Given the description of an element on the screen output the (x, y) to click on. 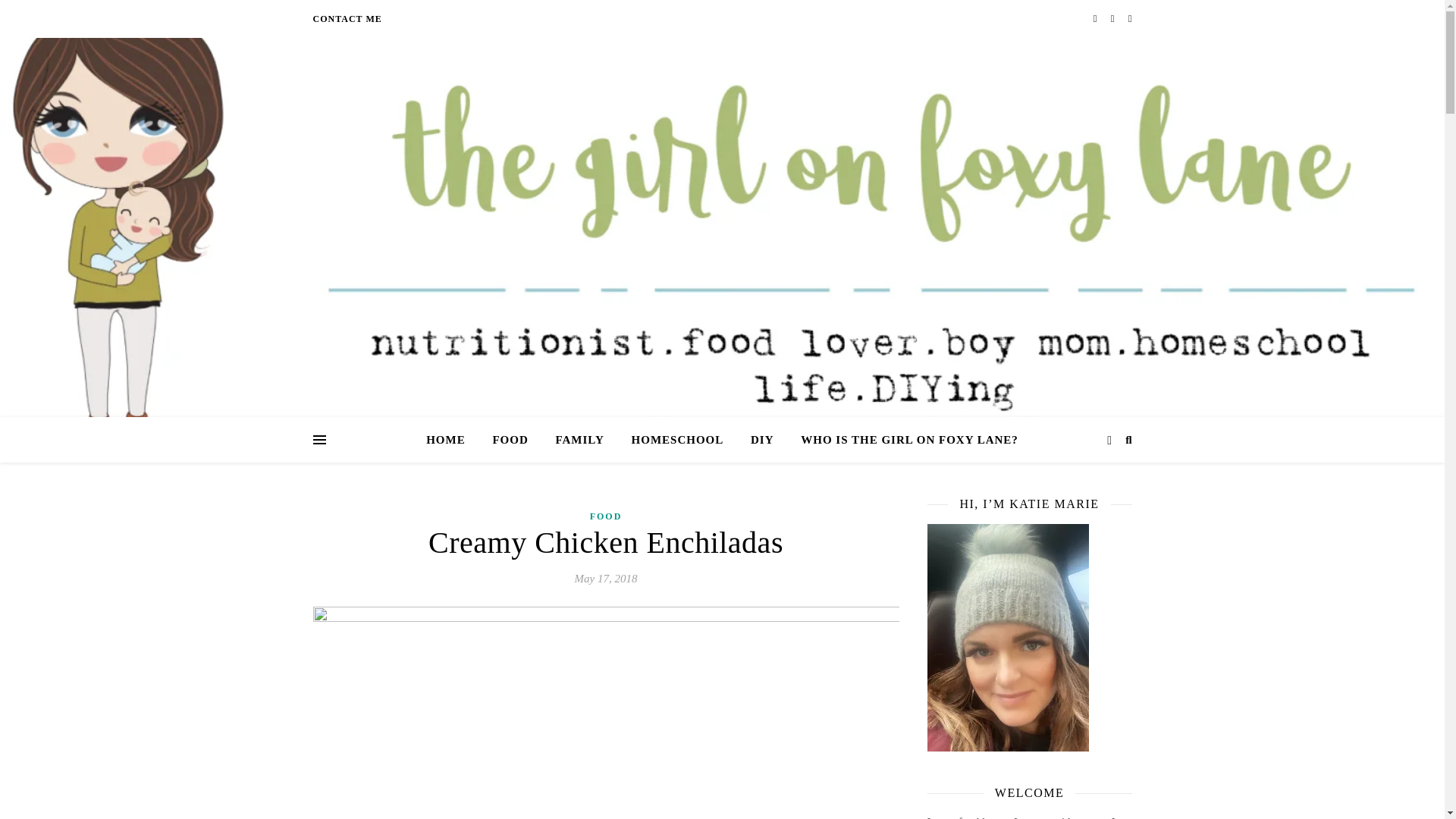
DIY (762, 439)
WHO IS THE GIRL ON FOXY LANE? (903, 439)
HOMESCHOOL (678, 439)
HOME (451, 439)
FOOD (510, 439)
CONTACT ME (347, 18)
FAMILY (579, 439)
FOOD (606, 516)
